Given the description of an element on the screen output the (x, y) to click on. 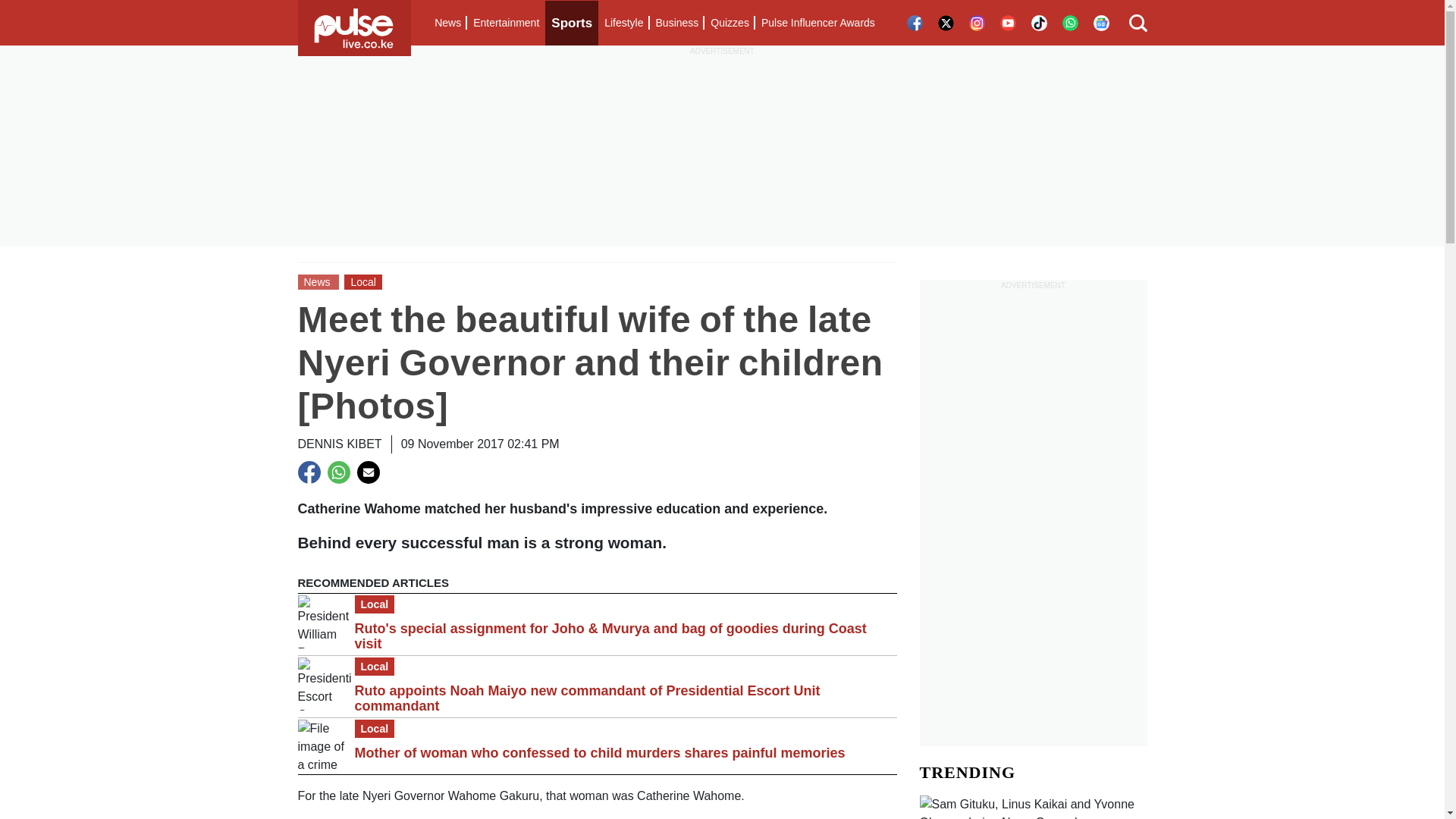
Sports (571, 22)
Quizzes (729, 22)
Entertainment (505, 22)
Pulse Influencer Awards (817, 22)
Business (676, 22)
Lifestyle (623, 22)
